Given the description of an element on the screen output the (x, y) to click on. 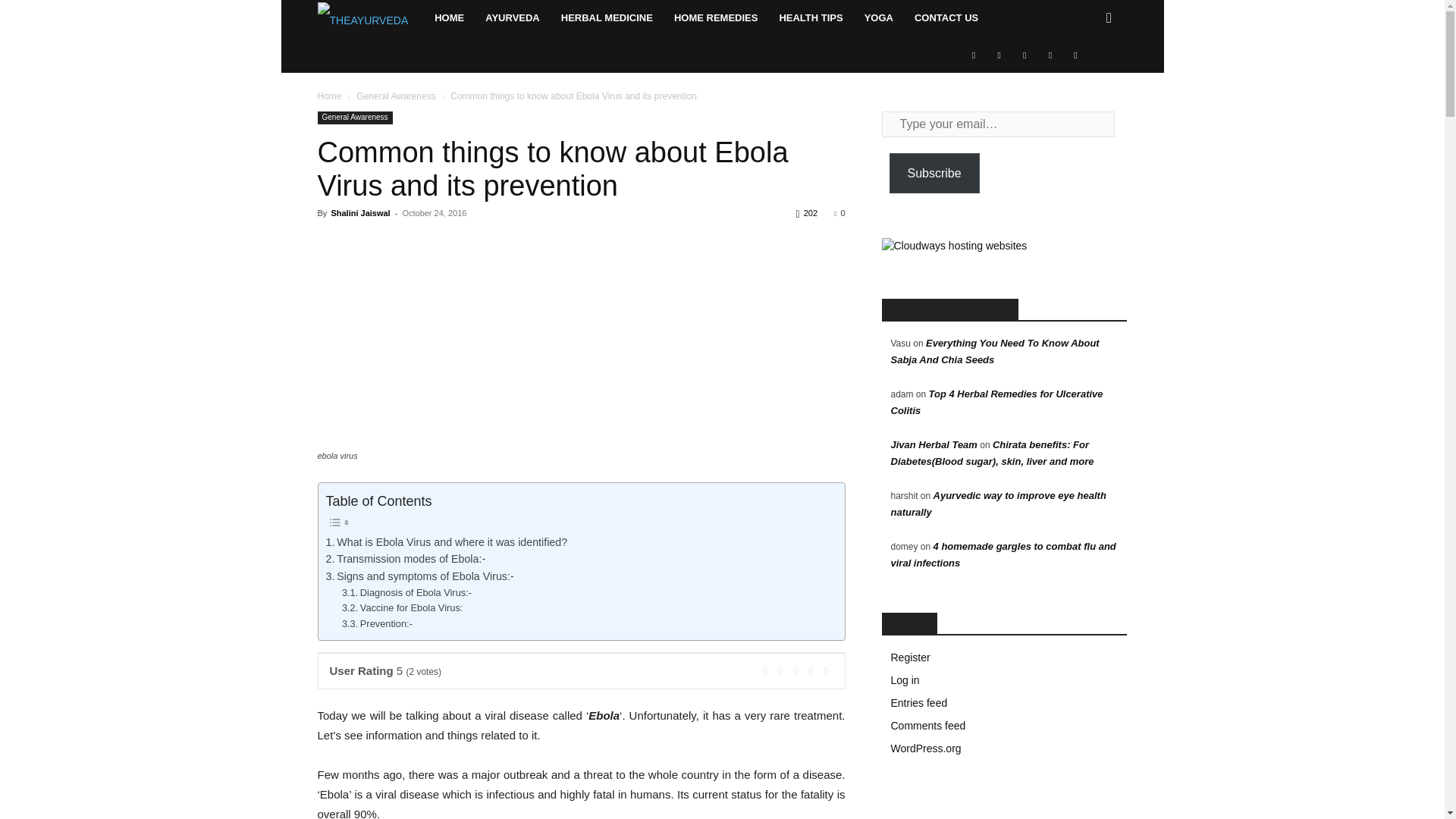
Home (448, 18)
Theayurveda (370, 18)
HOME (448, 18)
AYURVEDA (512, 18)
